Given the description of an element on the screen output the (x, y) to click on. 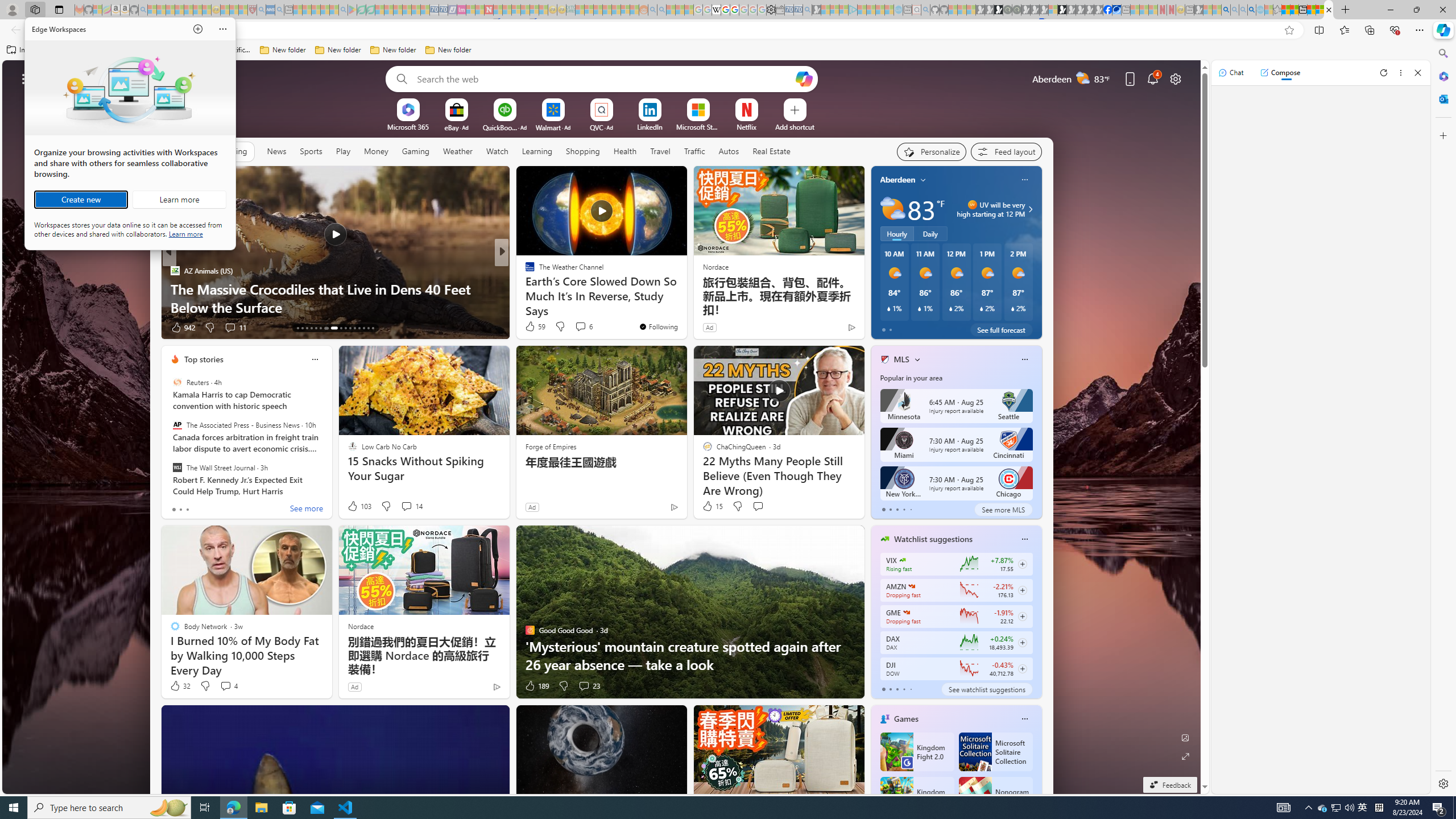
View comments 11 Comment (585, 327)
152 Like (532, 327)
360 Like (182, 327)
Gaming (415, 151)
View comments 14 Comment (411, 505)
Earth Continents Down To Six After New Study (684, 307)
Target page - Wikipedia (716, 9)
Shopping (582, 151)
Money (375, 151)
